Given the description of an element on the screen output the (x, y) to click on. 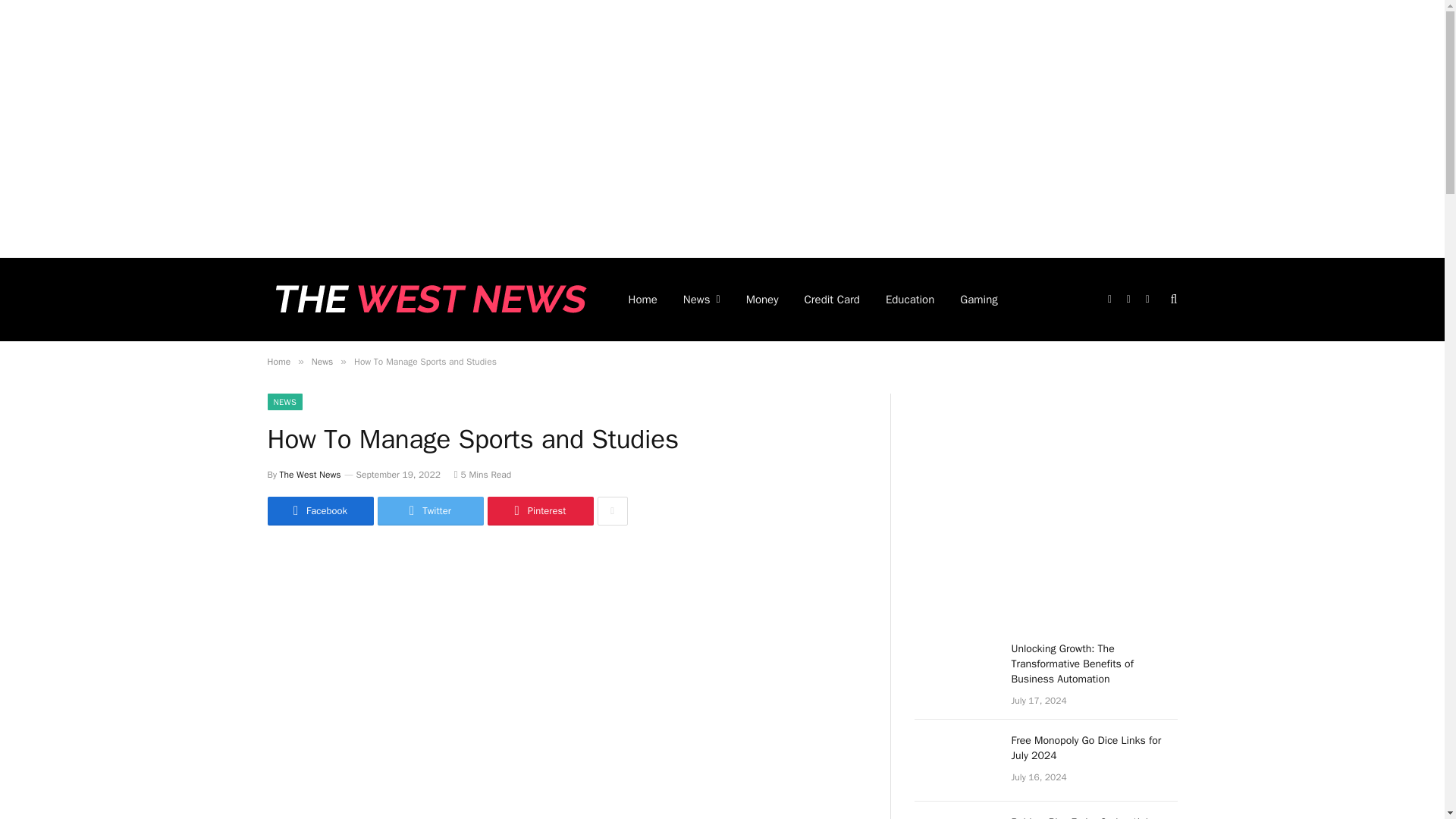
Pinterest (539, 510)
NEWS (284, 401)
News (322, 361)
Posts by The West News (309, 474)
The West News (309, 474)
Education (909, 299)
Share on Pinterest (539, 510)
Show More Social Sharing (611, 510)
The West News (427, 299)
Credit Card (832, 299)
Share on Facebook (319, 510)
Twitter (430, 510)
Home (277, 361)
Facebook (319, 510)
